Given the description of an element on the screen output the (x, y) to click on. 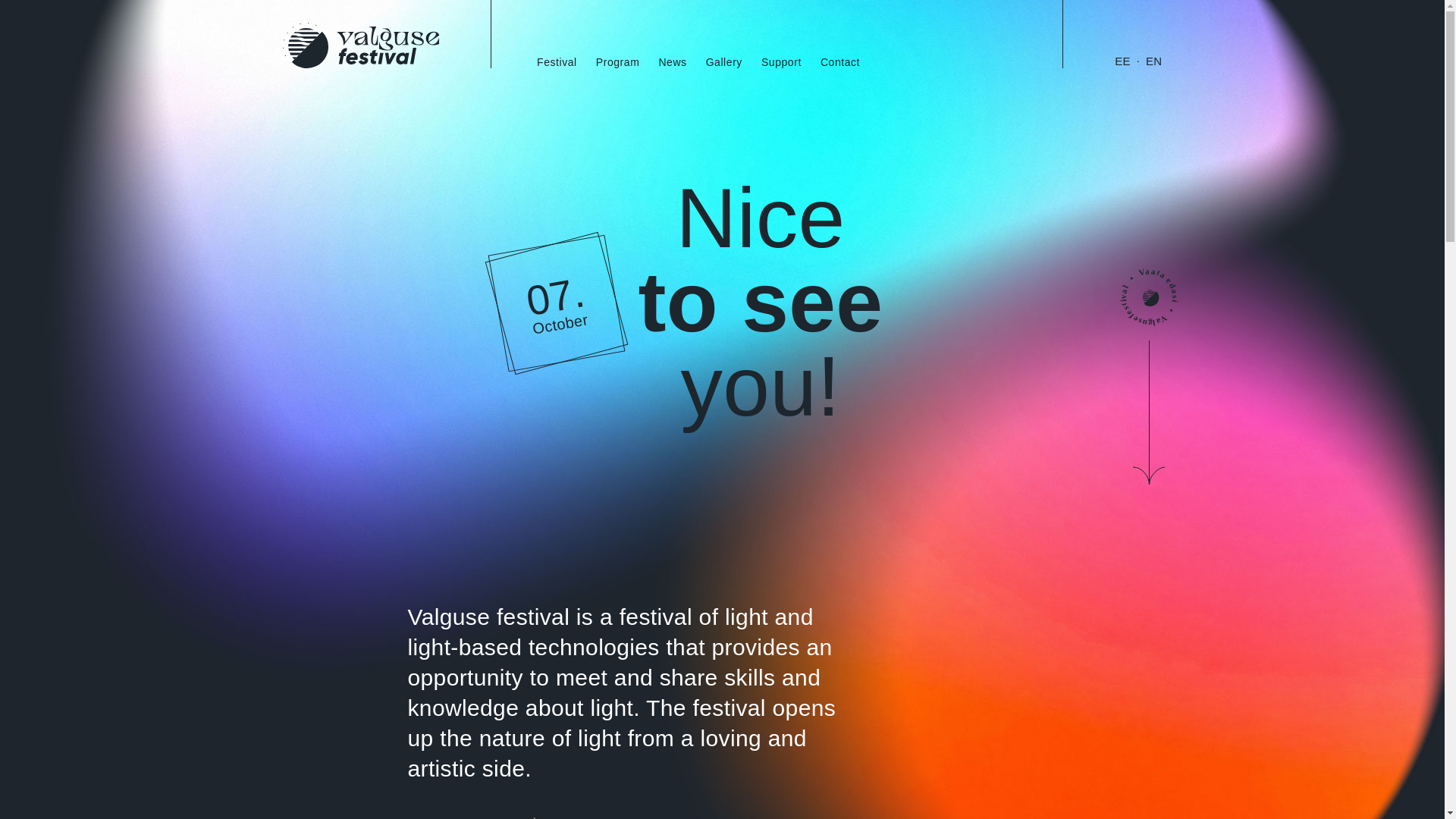
News (671, 62)
Support (1148, 297)
Program (781, 62)
Contact (617, 62)
Read more (840, 62)
Gallery (475, 818)
